Given the description of an element on the screen output the (x, y) to click on. 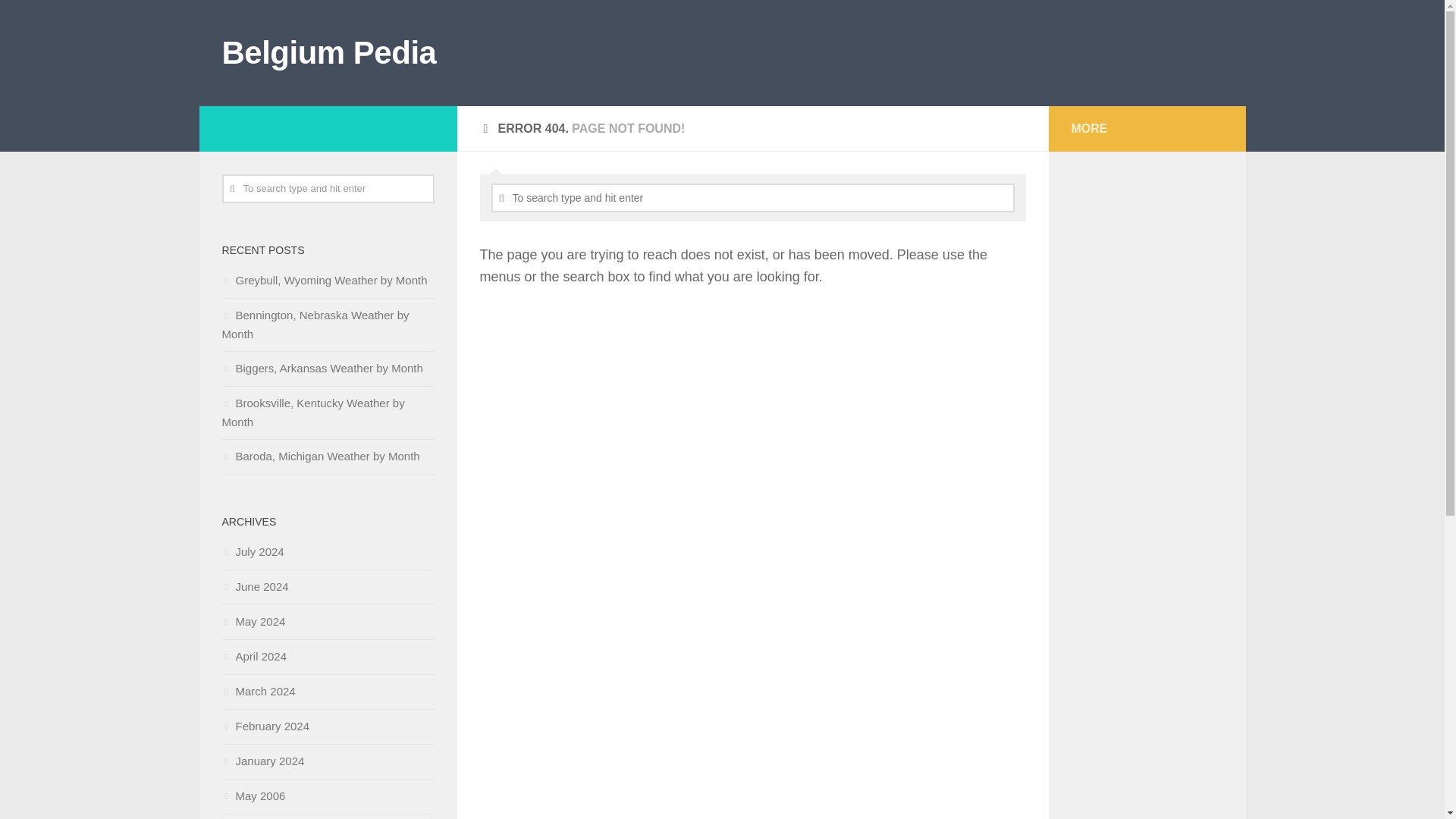
April 2024 (253, 656)
To search type and hit enter (753, 197)
May 2006 (253, 795)
January 2024 (262, 760)
May 2024 (253, 621)
To search type and hit enter (753, 197)
Baroda, Michigan Weather by Month (320, 455)
February 2024 (264, 725)
March 2024 (258, 690)
Brooksville, Kentucky Weather by Month (312, 412)
